Given the description of an element on the screen output the (x, y) to click on. 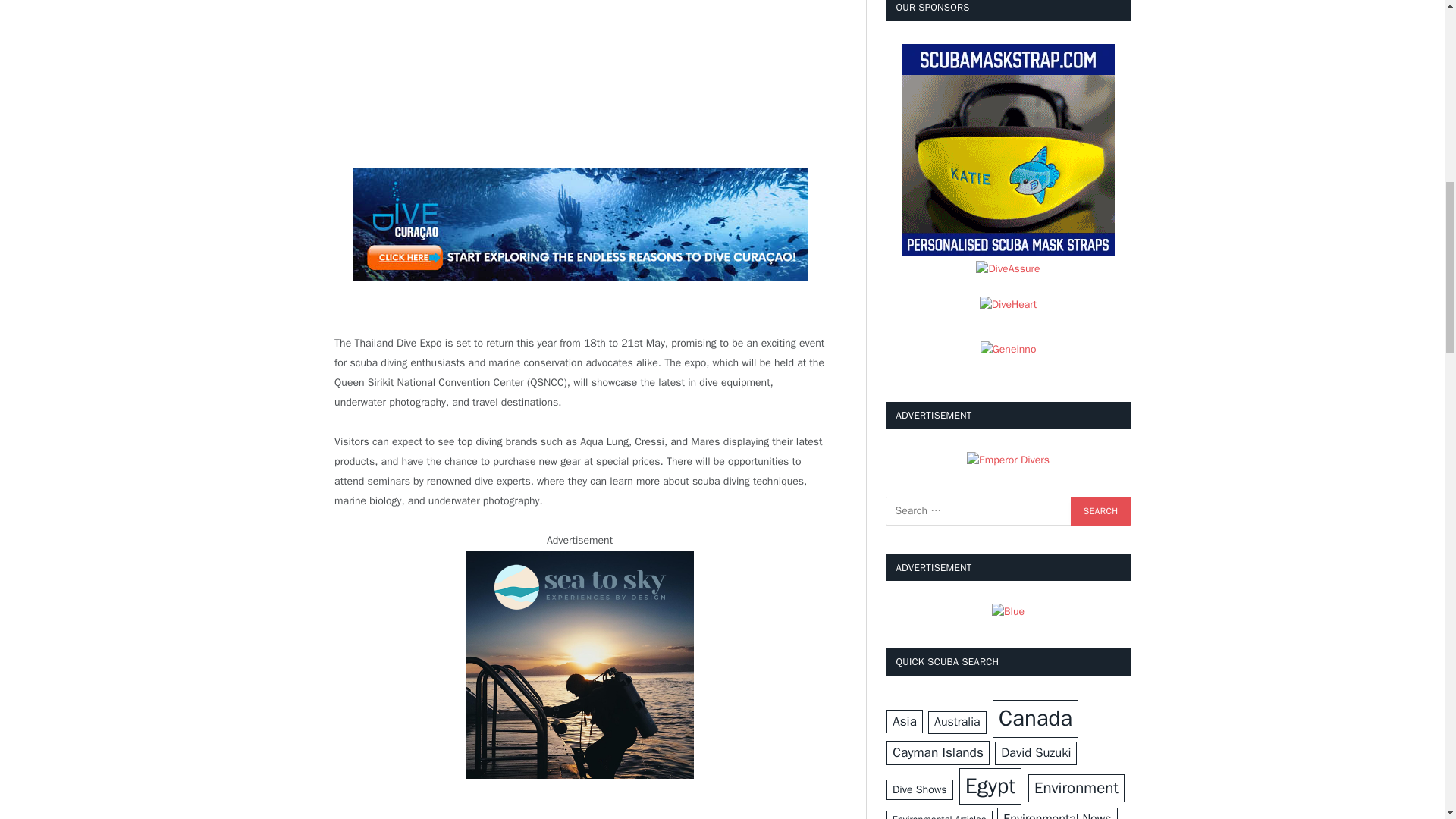
Search (1100, 510)
Search (1100, 510)
